Given the description of an element on the screen output the (x, y) to click on. 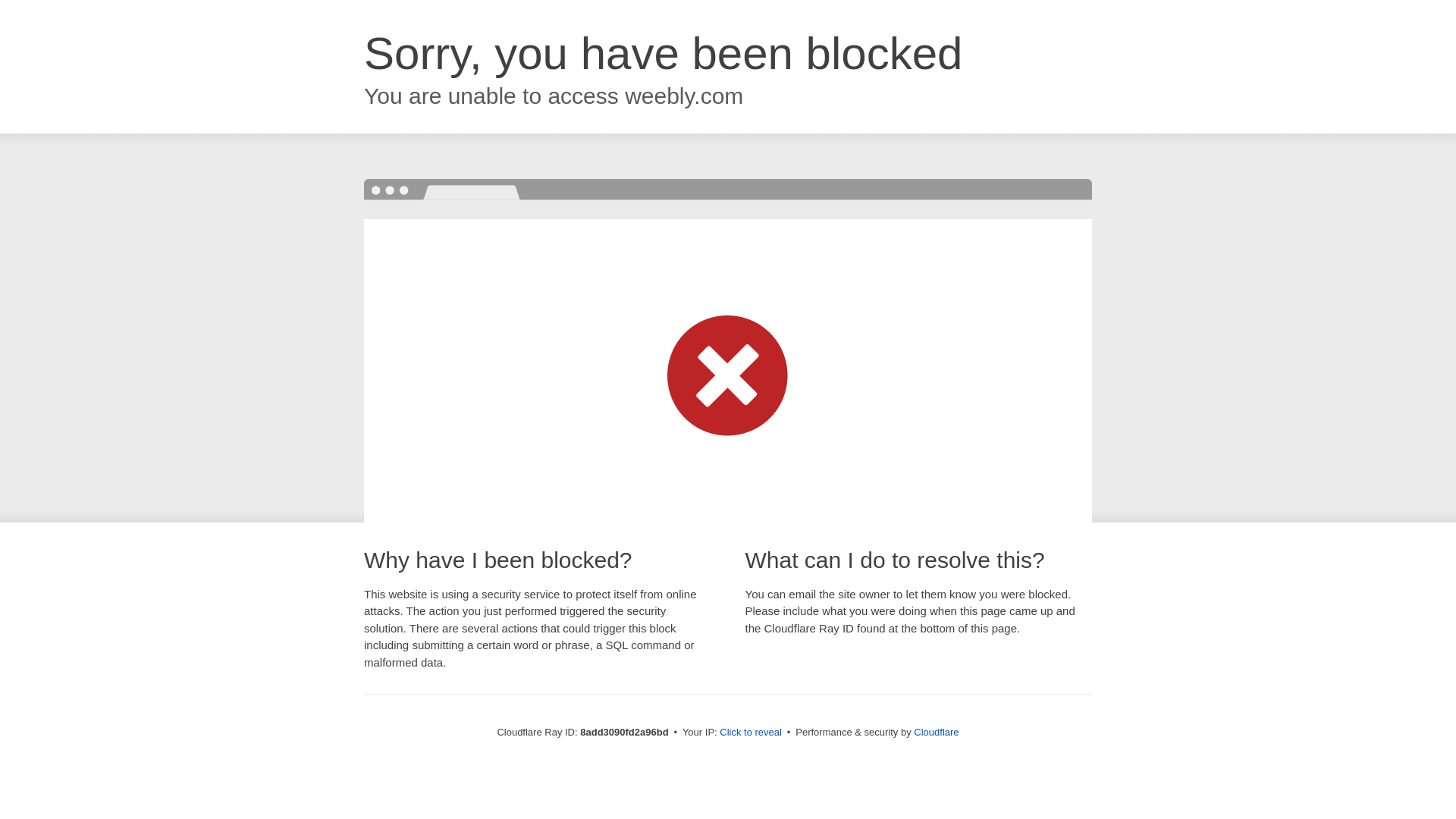
Click to reveal (750, 732)
Cloudflare (936, 731)
